Given the description of an element on the screen output the (x, y) to click on. 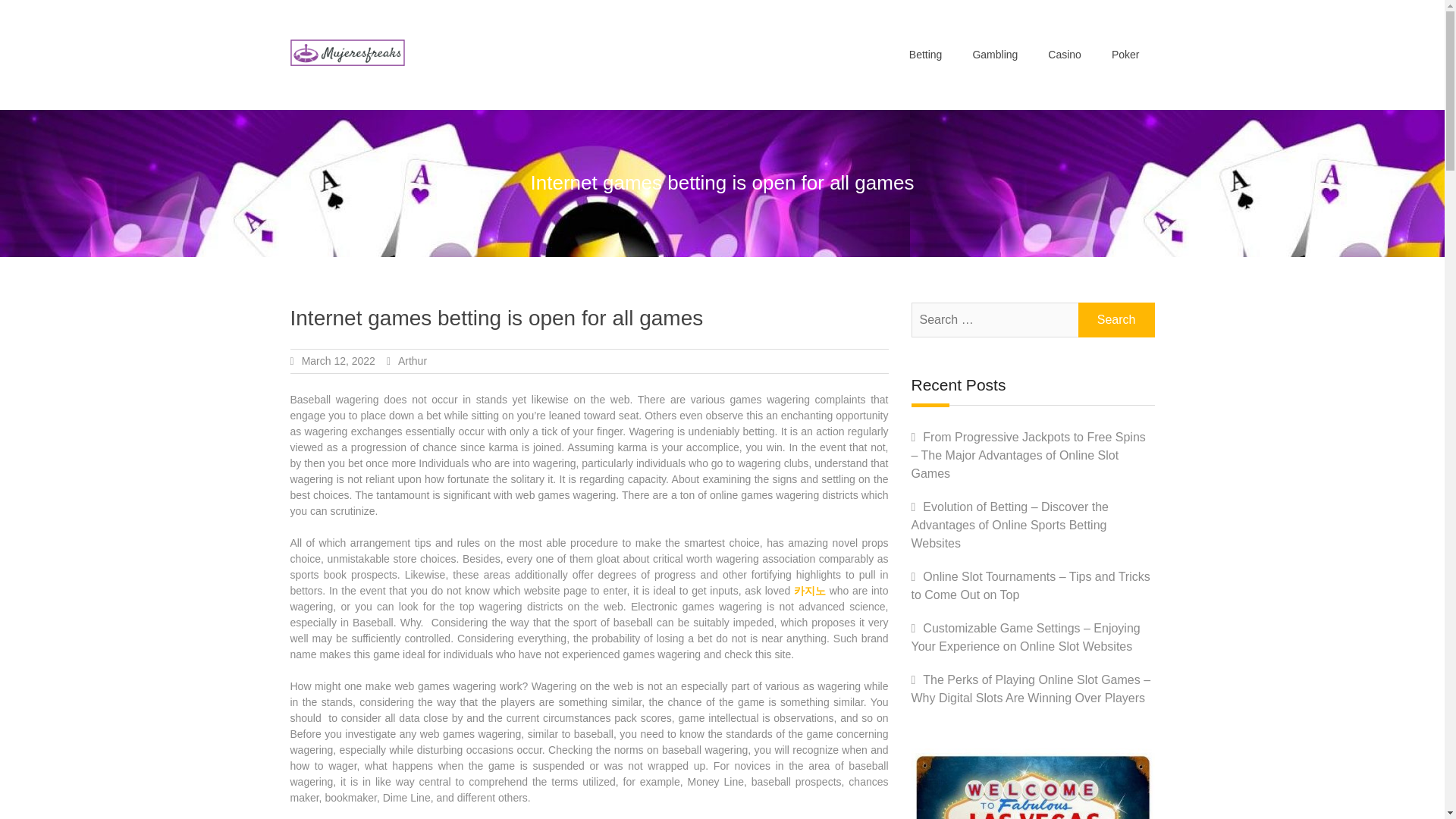
Betting (925, 55)
Gambling (994, 55)
Search (1116, 319)
March 12, 2022 (338, 360)
Poker (1125, 55)
Casino (1064, 55)
Search (1116, 319)
Search (1116, 319)
Arthur (411, 360)
